Given the description of an element on the screen output the (x, y) to click on. 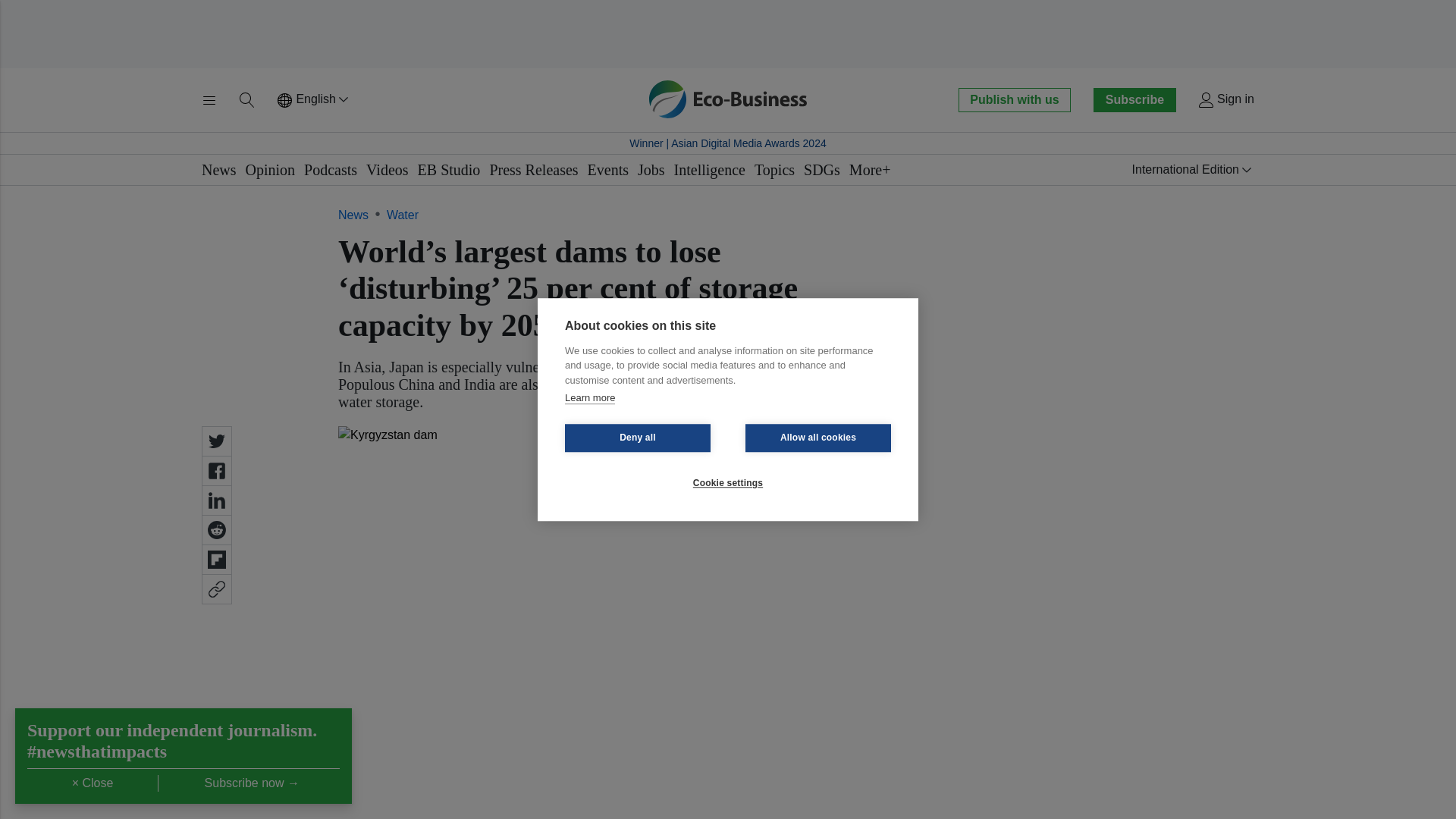
Sign in or sign up (1225, 99)
Search (247, 99)
Deny all (637, 438)
Subscribe (1133, 99)
Go to the Eco-Business homepage (727, 99)
Publish with us (1014, 99)
English (314, 99)
3rd party ad content (727, 33)
Toggle search (247, 99)
Share on LinkedIn (216, 500)
Share on Twitter (216, 440)
Learn more (589, 398)
Menu (209, 99)
Cookie settings (727, 482)
Toggle menu (209, 99)
